Given the description of an element on the screen output the (x, y) to click on. 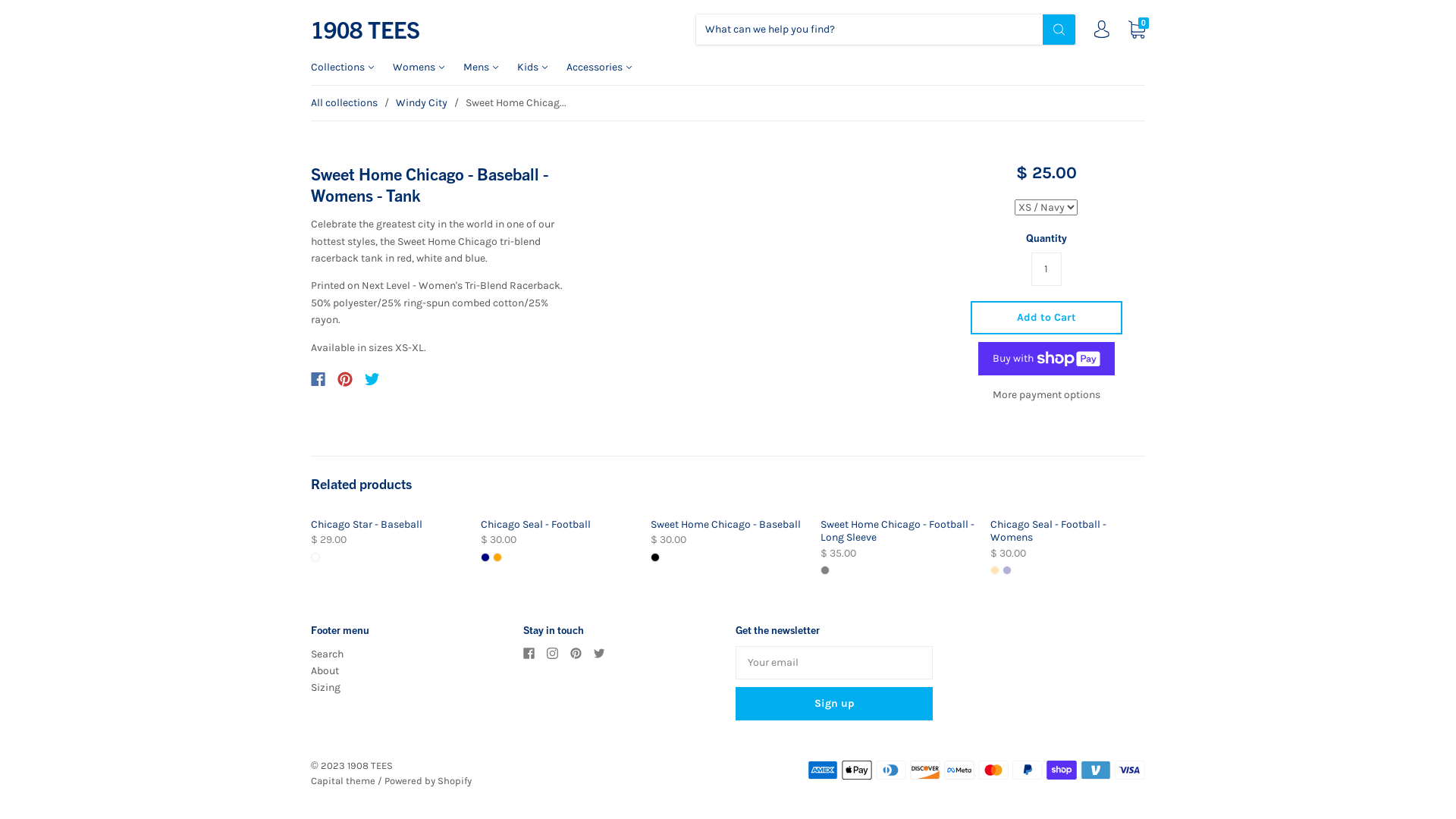
All collections Element type: text (343, 102)
Chicago Seal - Football Element type: text (535, 523)
Search Element type: text (326, 653)
Add to Cart Element type: text (1046, 317)
Chicago Seal - Football - Womens Element type: text (1048, 530)
1908 TEES Element type: text (365, 29)
Sweet Home Chicago - Baseball Element type: text (725, 523)
Accessories Element type: text (608, 67)
Windy City Element type: text (421, 102)
Kids Element type: text (541, 67)
About Element type: text (324, 670)
Sizing Element type: text (325, 686)
More payment options Element type: text (1046, 394)
Sweet Home Chicago - Football - Long Sleeve Element type: text (897, 530)
Twitter Element type: hover (371, 378)
Mens Element type: text (490, 67)
Facebook Element type: hover (317, 378)
Chicago Star - Baseball Element type: text (366, 523)
0 Element type: text (1136, 28)
Sign up Element type: text (833, 703)
1908 TEES Element type: text (369, 765)
Womens Element type: text (427, 67)
Powered by Shopify Element type: text (427, 780)
Pinterest Element type: hover (344, 378)
Collections Element type: text (351, 67)
